Given the description of an element on the screen output the (x, y) to click on. 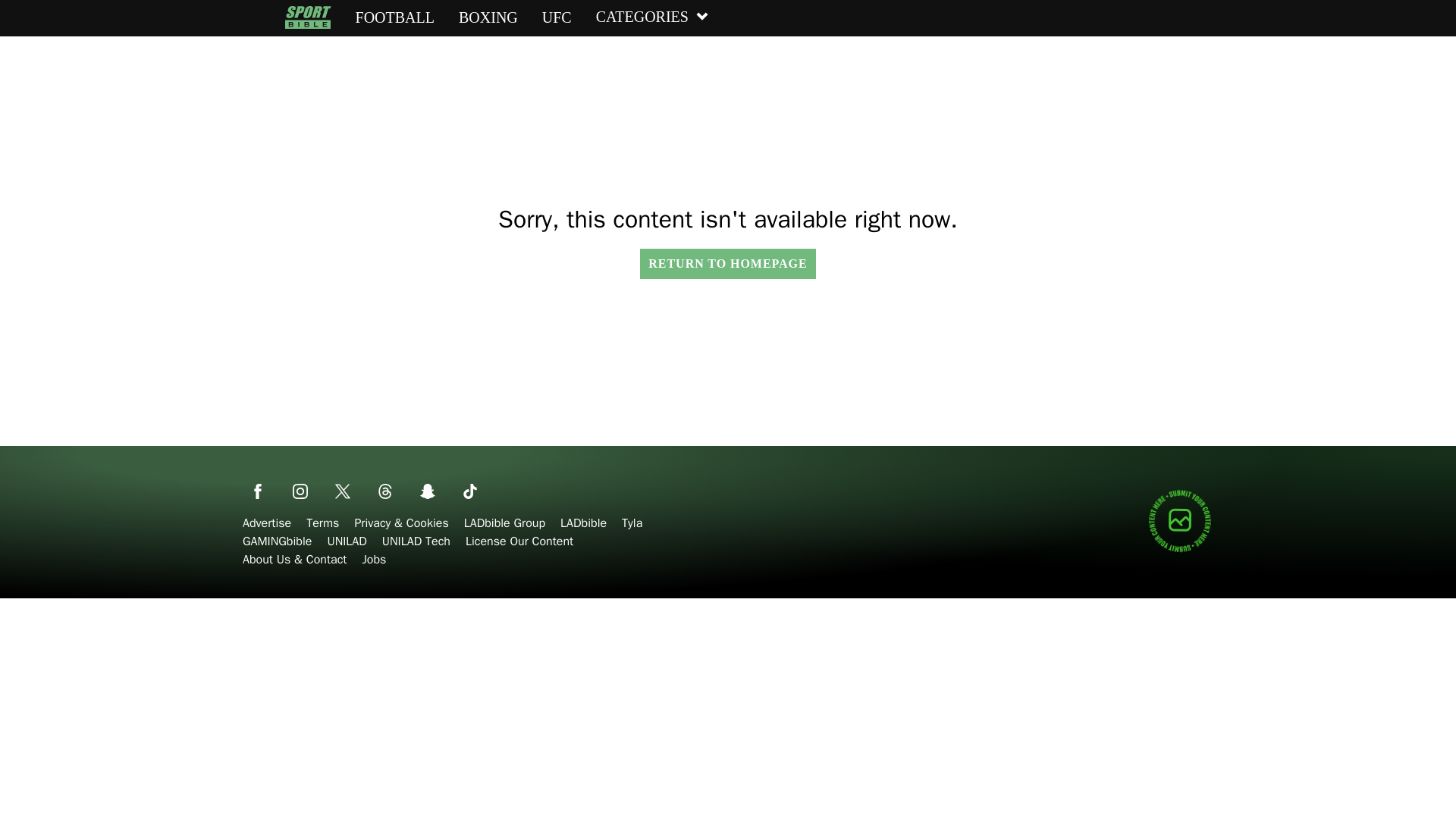
BOXING (488, 17)
FOOTBALL (394, 17)
